Given the description of an element on the screen output the (x, y) to click on. 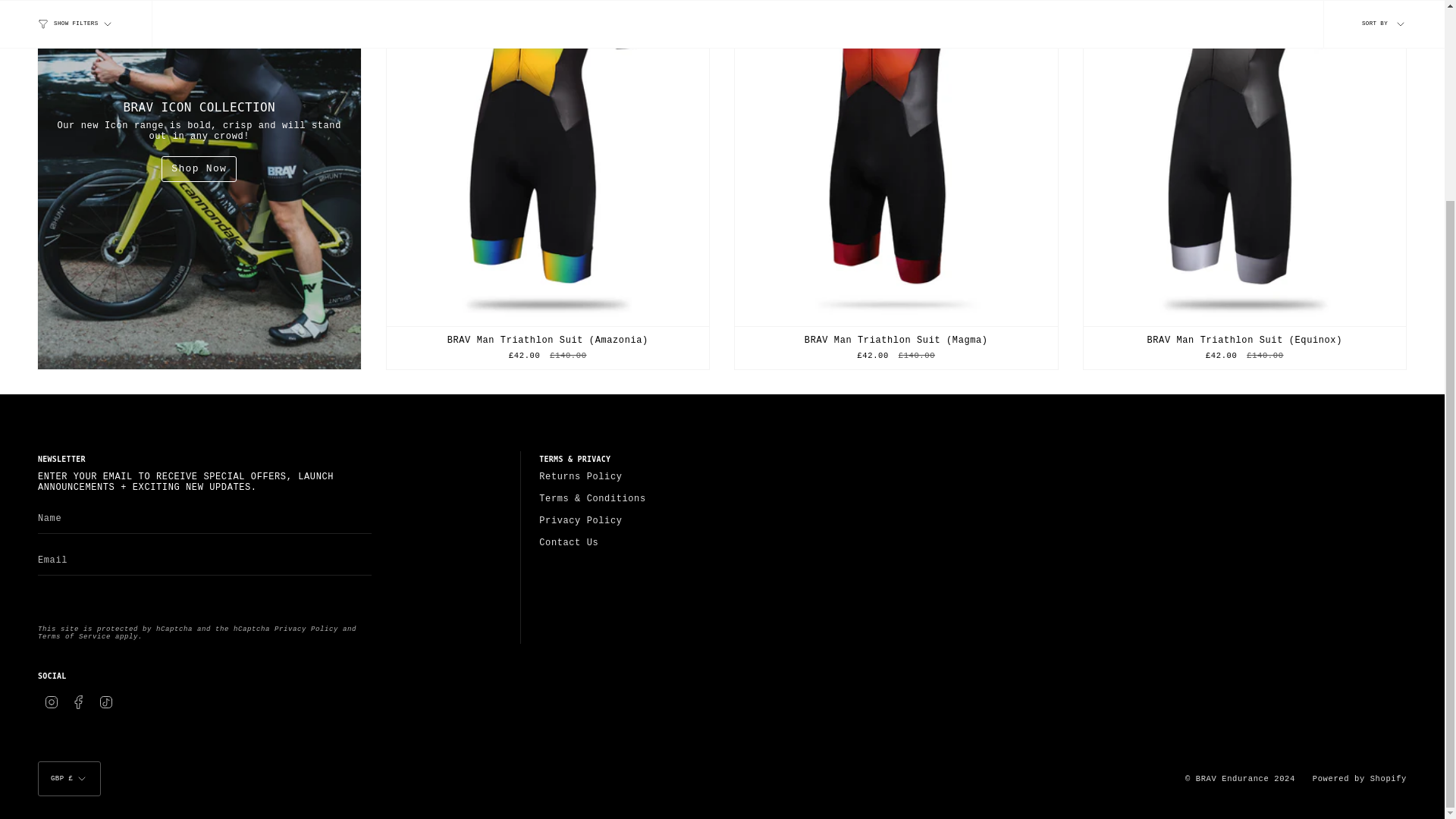
BRAV Endurance on Instagram (51, 701)
BRAV Endurance on TikTok (106, 701)
BRAV Endurance on Facebook (78, 701)
